Given the description of an element on the screen output the (x, y) to click on. 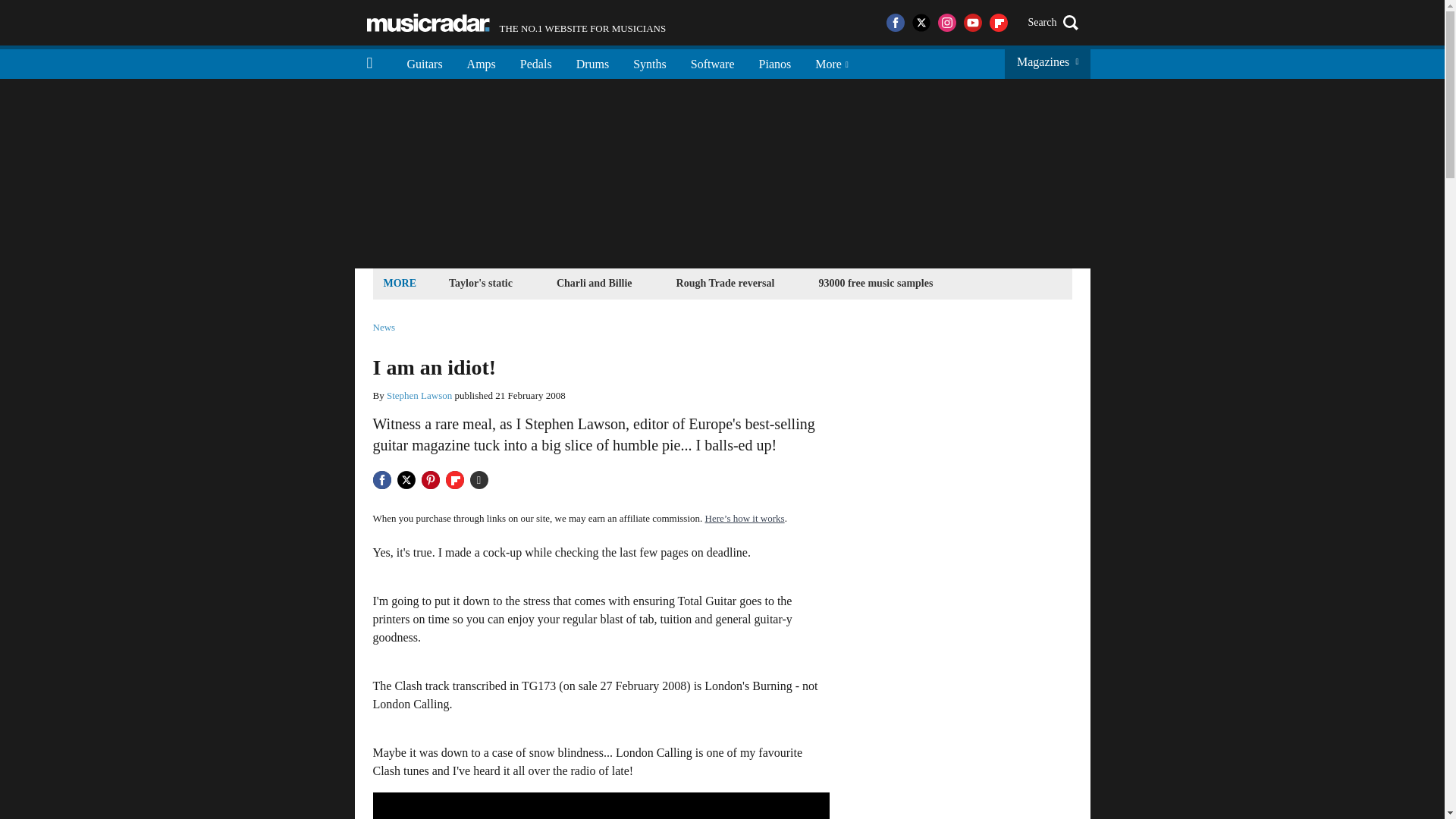
Drums (592, 61)
Charli and Billie (594, 282)
Synths (516, 22)
Software (649, 61)
93000 free music samples (712, 61)
Guitars (874, 282)
Pianos (424, 61)
Stephen Lawson (774, 61)
Music Radar (419, 395)
